Given the description of an element on the screen output the (x, y) to click on. 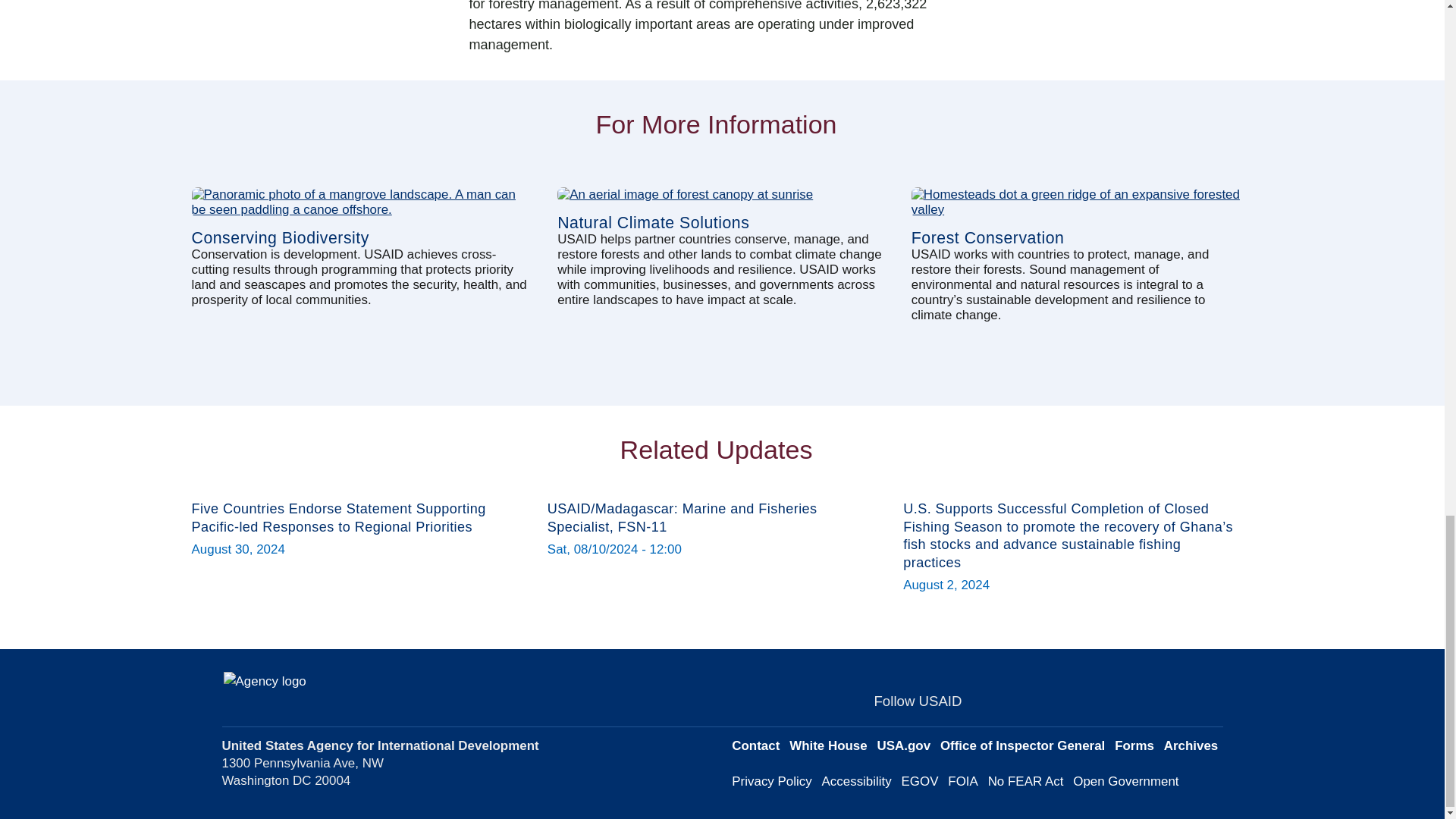
Tikal National Park, Guatemala (721, 194)
Homesteads below Nkuringo in Uganda (1076, 202)
